Given the description of an element on the screen output the (x, y) to click on. 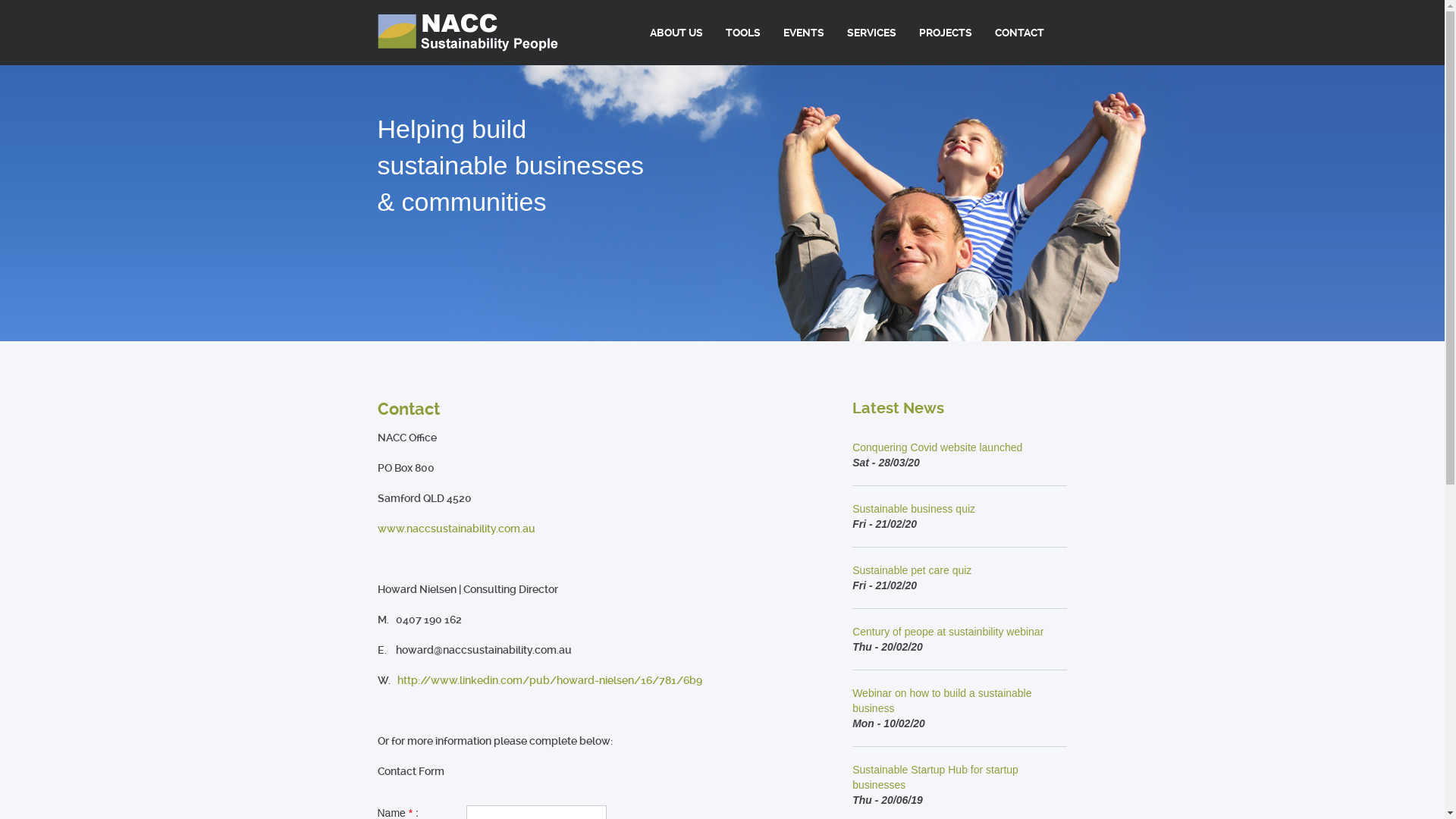
Sustainable pet care quiz Element type: text (911, 570)
EVENTS Element type: text (803, 32)
Century of peope at sustainbility webinar Element type: text (947, 631)
www.naccsustainability.com.au Element type: text (456, 528)
http://www.linkedin.com/pub/howard-nielsen/16/781/6b9 Element type: text (549, 680)
CONTACT Element type: text (1019, 32)
Sustainable Startup Hub for startup businesses Element type: text (935, 776)
ABOUT US Element type: text (676, 32)
Sustainable business quiz Element type: text (913, 508)
PROJECTS Element type: text (945, 32)
SERVICES Element type: text (871, 32)
Webinar on how to build a sustainable business Element type: text (941, 700)
Conquering Covid website launched Element type: text (937, 447)
TOOLS Element type: text (742, 32)
